Given the description of an element on the screen output the (x, y) to click on. 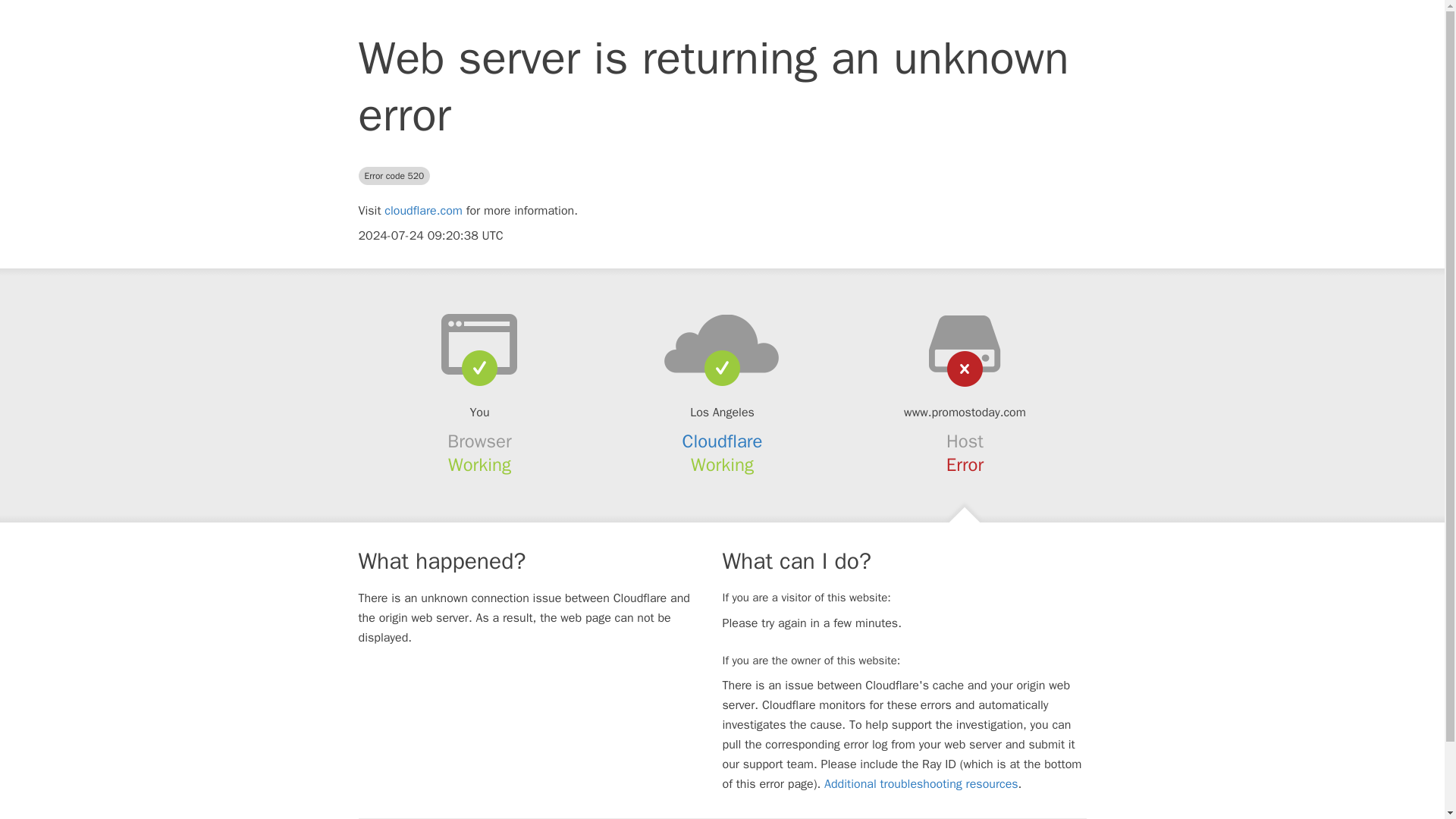
Cloudflare (722, 440)
cloudflare.com (423, 210)
Additional troubleshooting resources (920, 783)
